Given the description of an element on the screen output the (x, y) to click on. 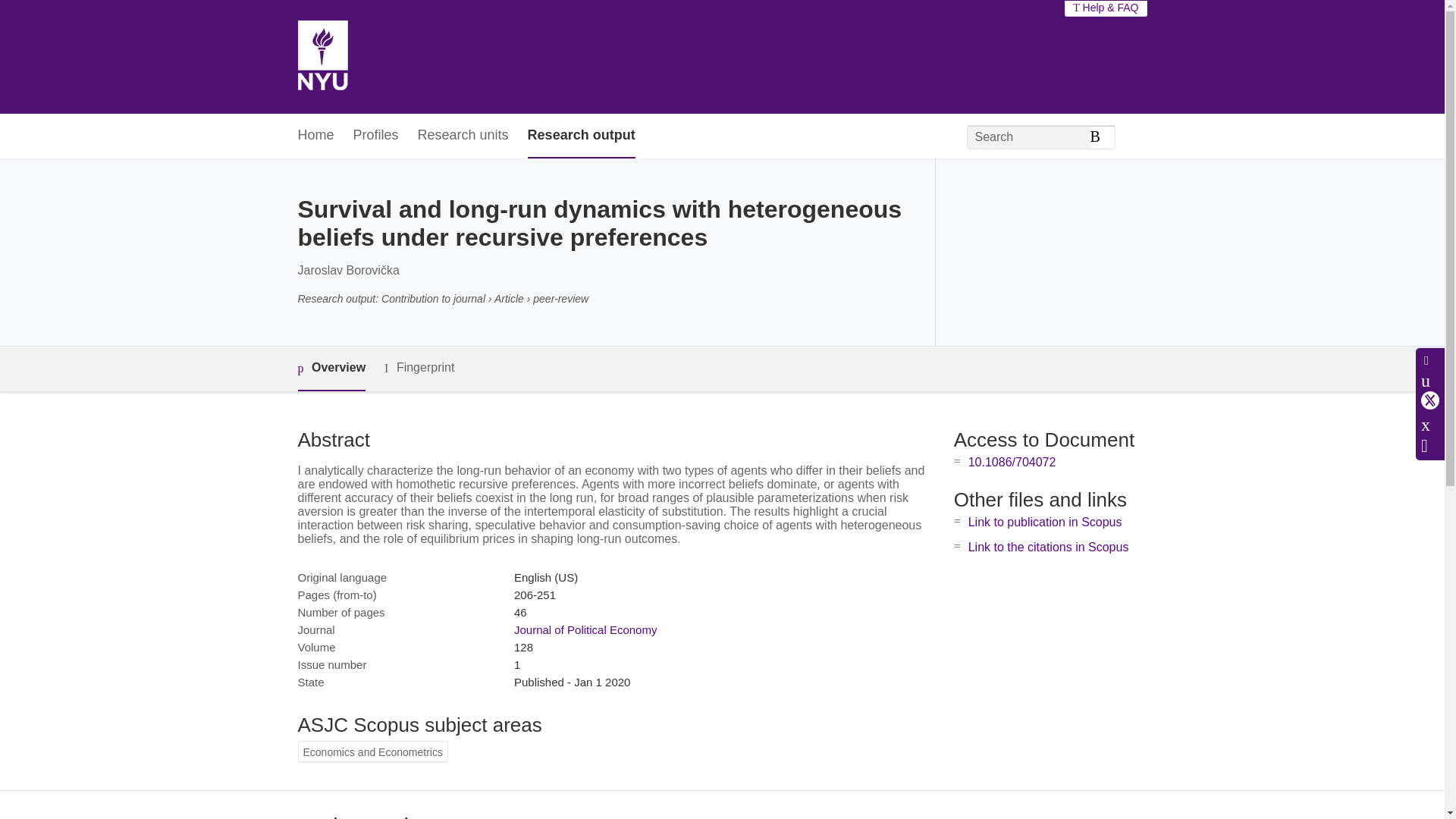
Fingerprint (419, 367)
Profiles (375, 135)
Research units (462, 135)
Overview (331, 368)
Link to the citations in Scopus (1048, 546)
Link to publication in Scopus (1045, 521)
Research output (580, 135)
Journal of Political Economy (584, 629)
